Given the description of an element on the screen output the (x, y) to click on. 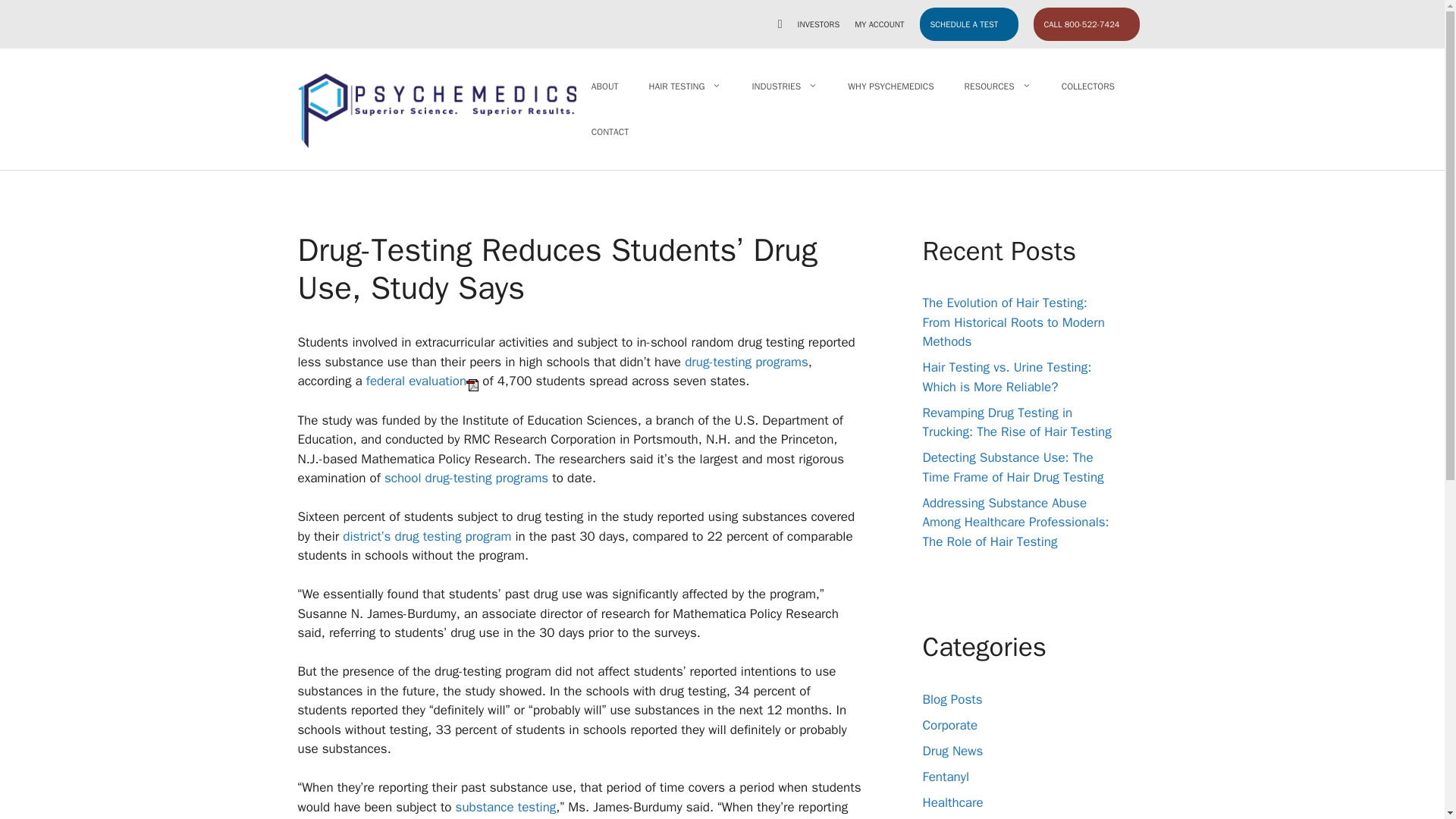
ABOUT (604, 85)
INVESTORS (818, 24)
SCHEDULE A TEST (967, 23)
HAIR TESTING (684, 85)
WHY PSYCHEMEDICS (890, 85)
RESOURCES (997, 85)
MY ACCOUNT (879, 23)
INDUSTRIES (784, 85)
CALL 800-522-7424 (1085, 23)
